Given the description of an element on the screen output the (x, y) to click on. 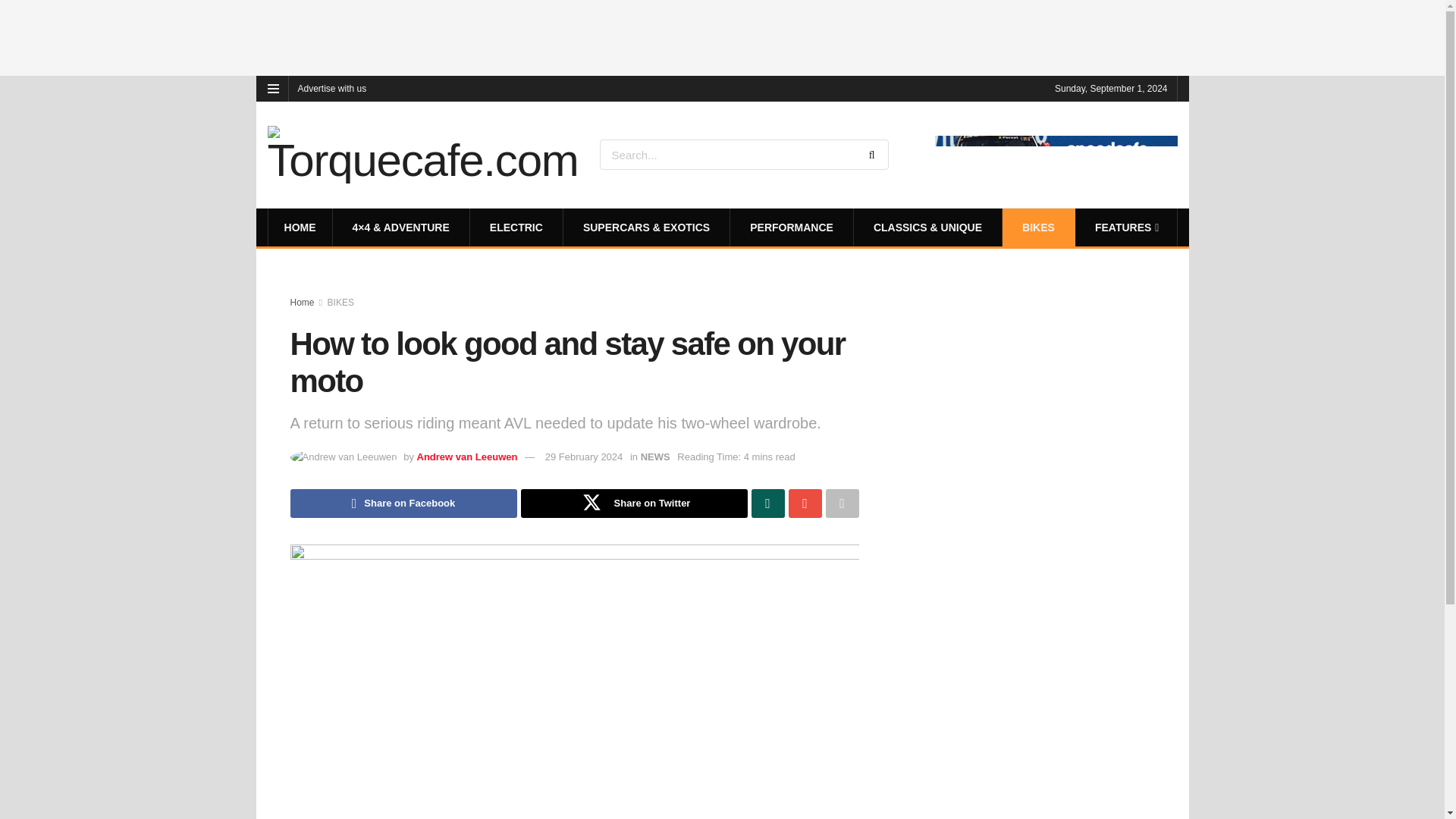
HOME (299, 227)
PERFORMANCE (790, 227)
ELECTRIC (516, 227)
FEATURES (1125, 227)
BIKES (1038, 227)
Advertise with us (331, 88)
